Given the description of an element on the screen output the (x, y) to click on. 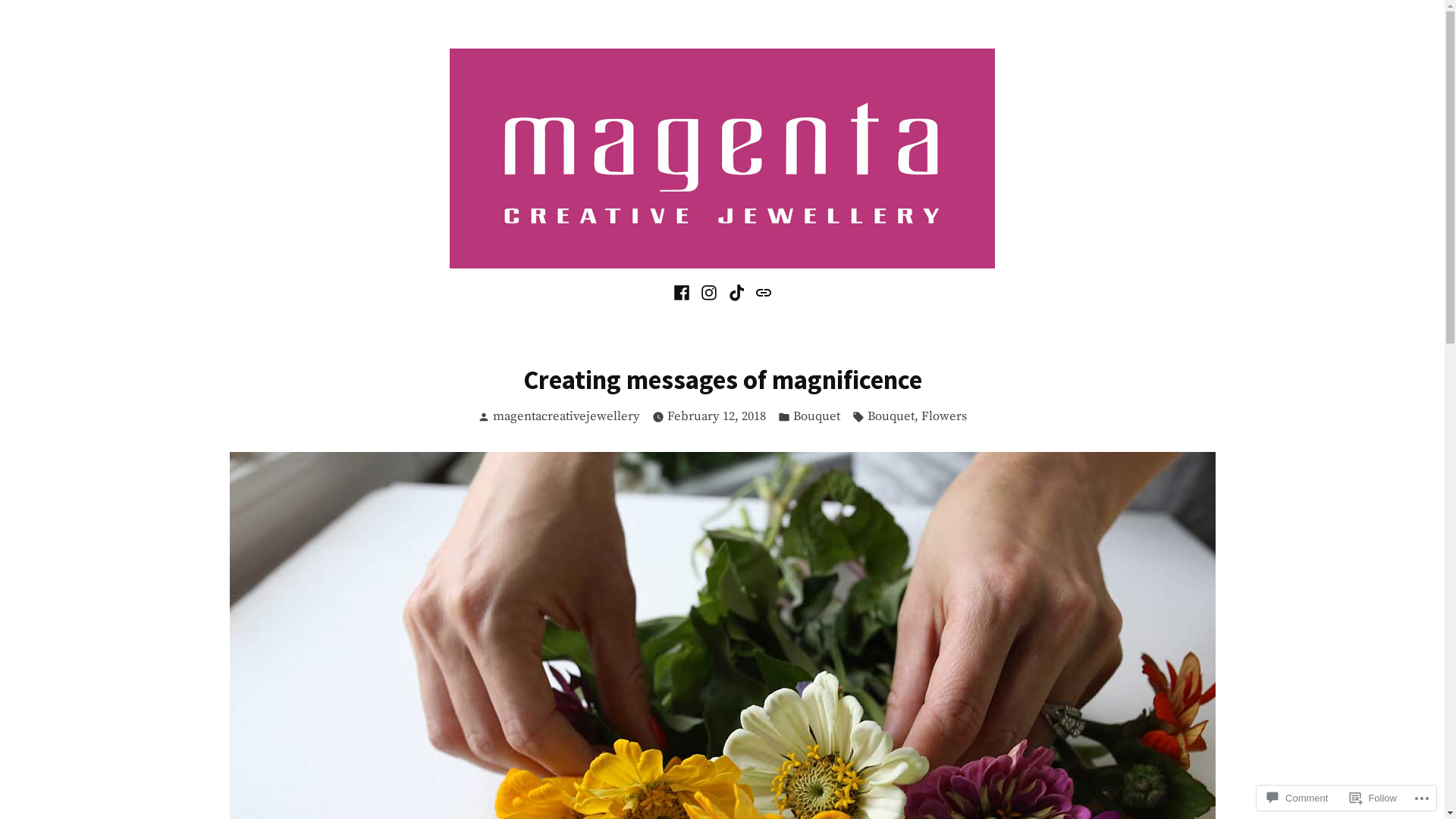
Magenta Creative Jewellery Element type: text (499, 286)
February 12, 2018 Element type: text (716, 417)
Bouquet Element type: text (816, 417)
Bouquet Element type: text (890, 417)
Comment Element type: text (1297, 797)
magentacreativejewellery Element type: text (566, 416)
Flowers Element type: text (943, 417)
Follow Element type: text (1372, 797)
